Given the description of an element on the screen output the (x, y) to click on. 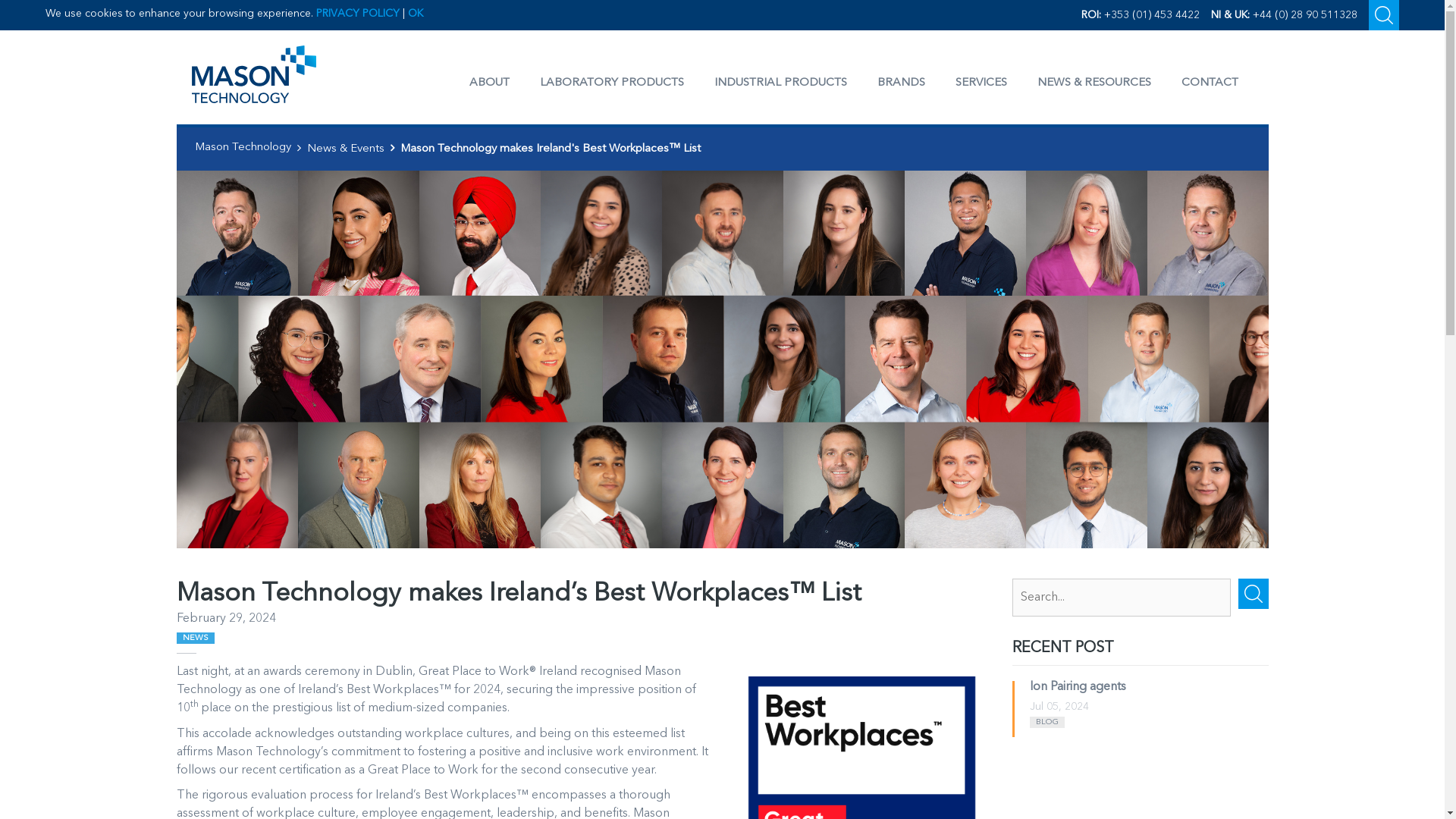
OK (415, 13)
Search (1383, 15)
BW-IE-2026 (861, 740)
PRIVACY POLICY (356, 13)
